Given the description of an element on the screen output the (x, y) to click on. 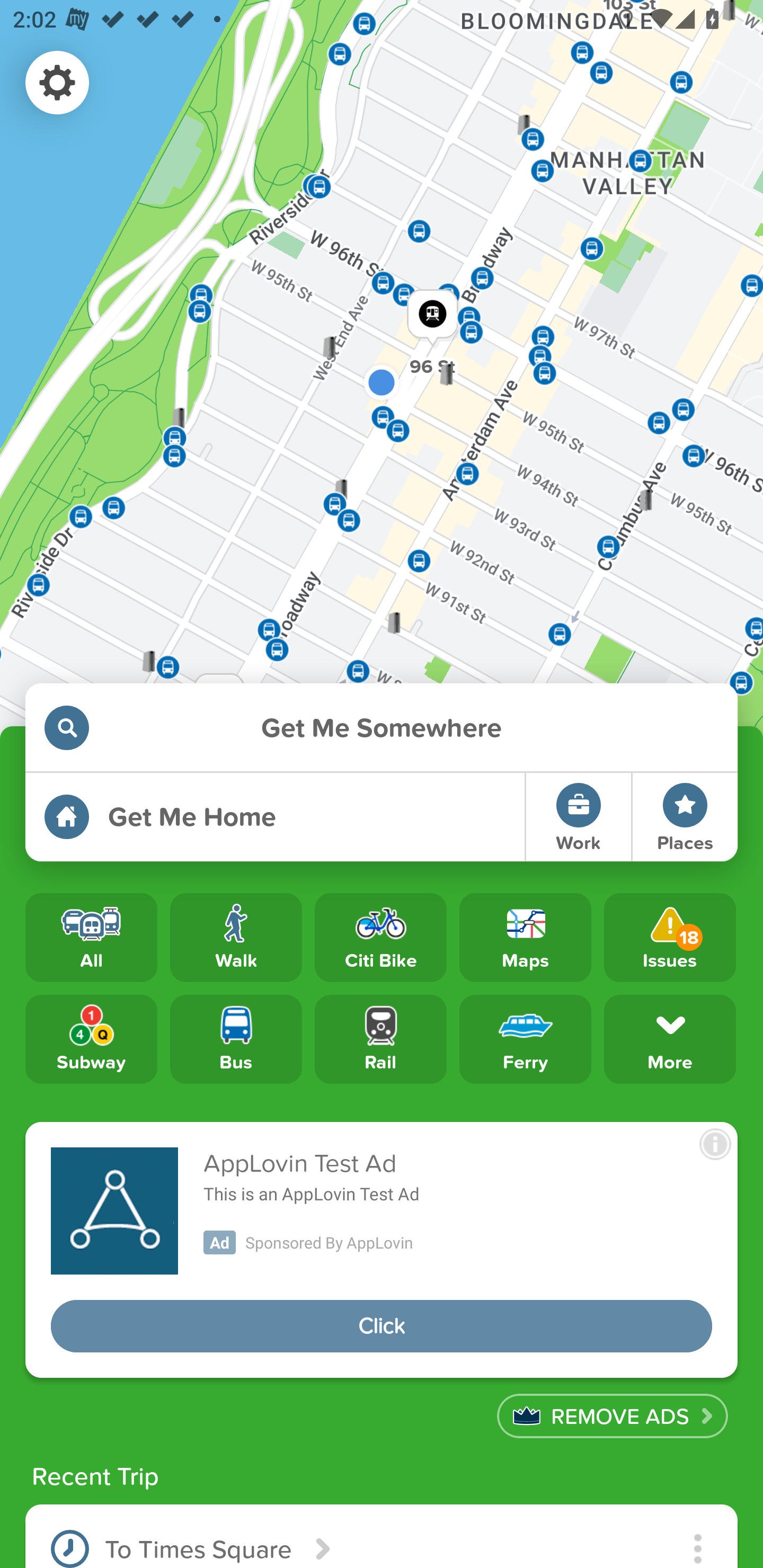
Places (684, 816)
